Given the description of an element on the screen output the (x, y) to click on. 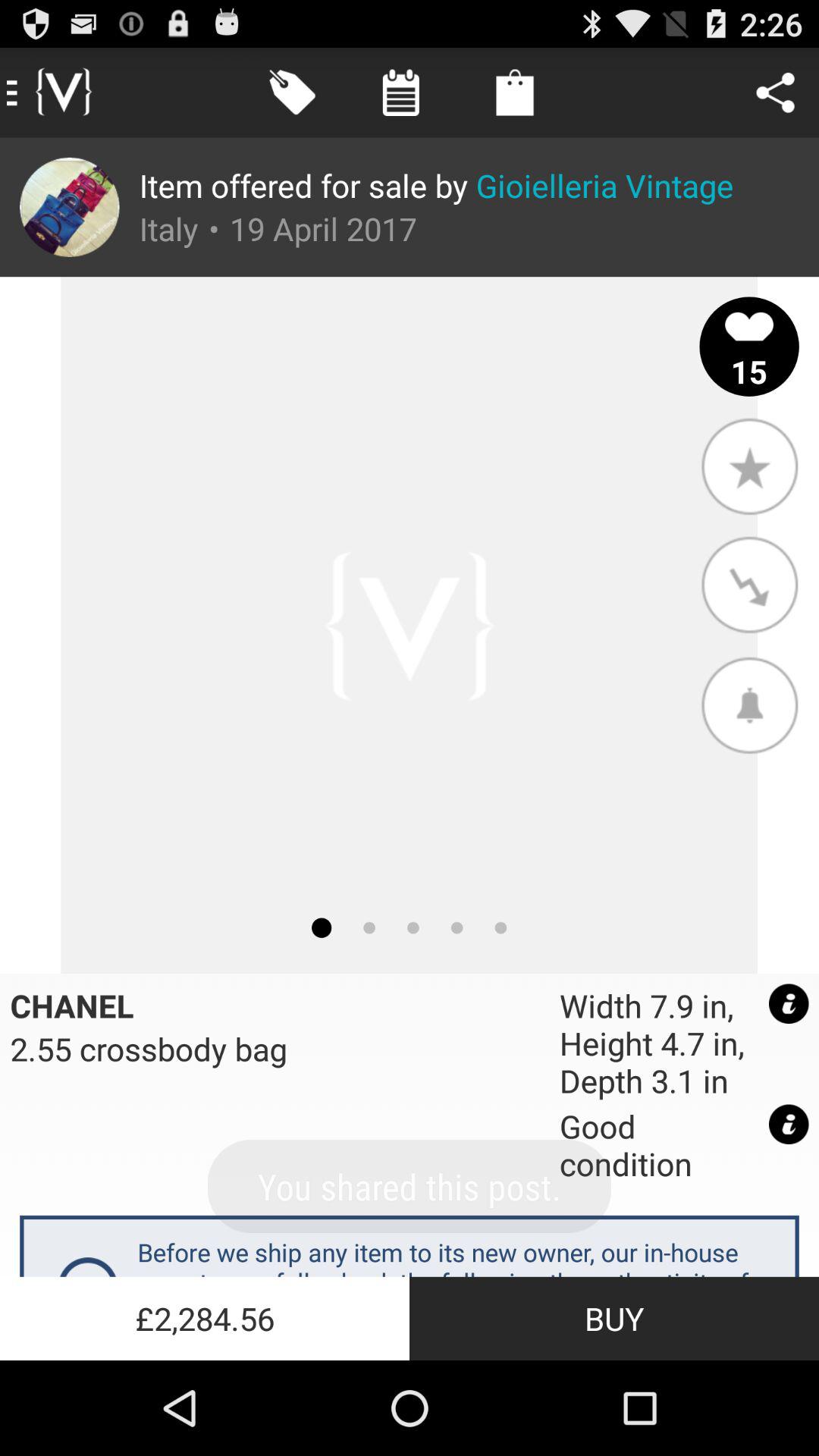
jump to the item offered for (436, 185)
